Given the description of an element on the screen output the (x, y) to click on. 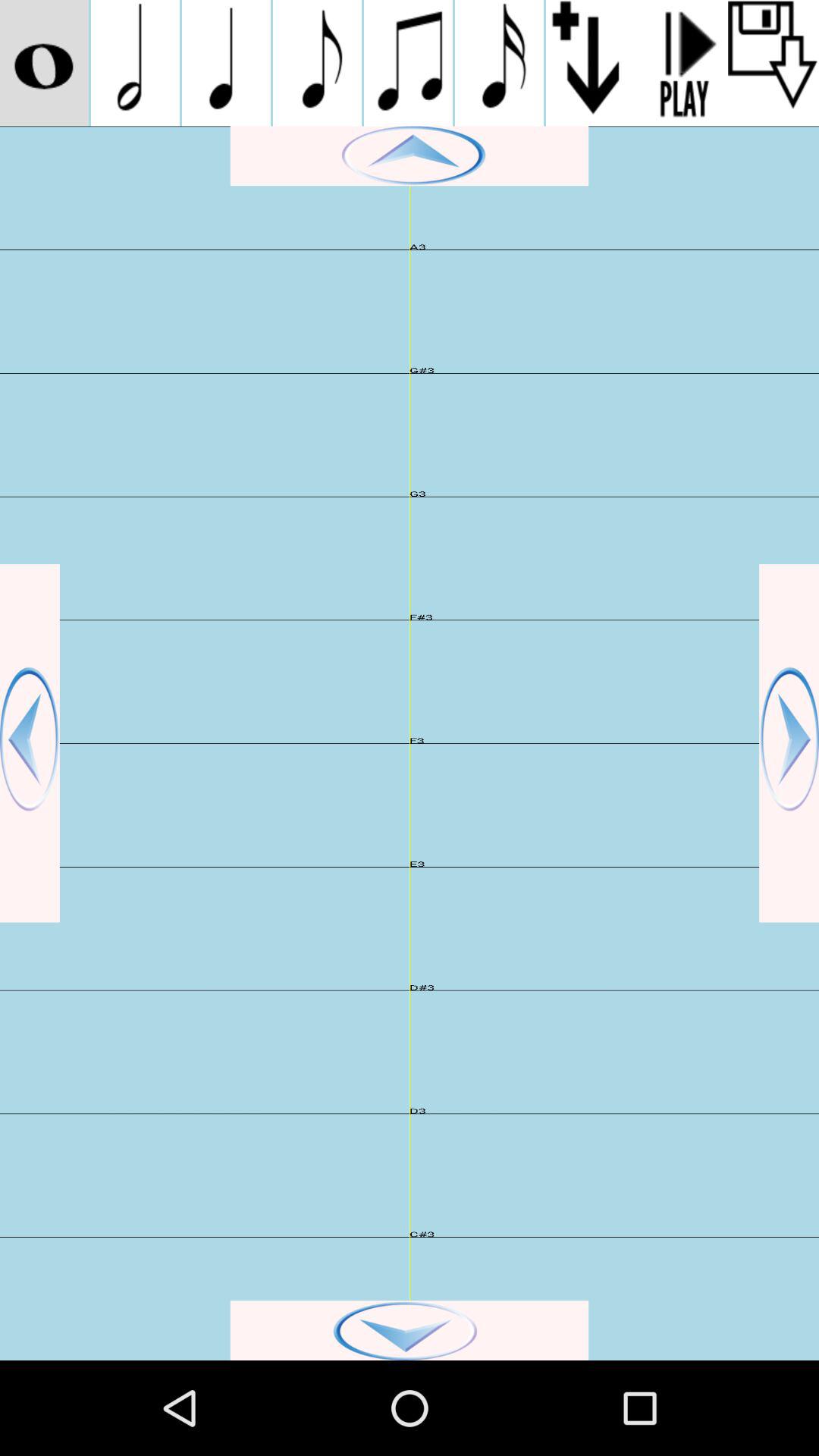
scroll down (409, 1330)
